Given the description of an element on the screen output the (x, y) to click on. 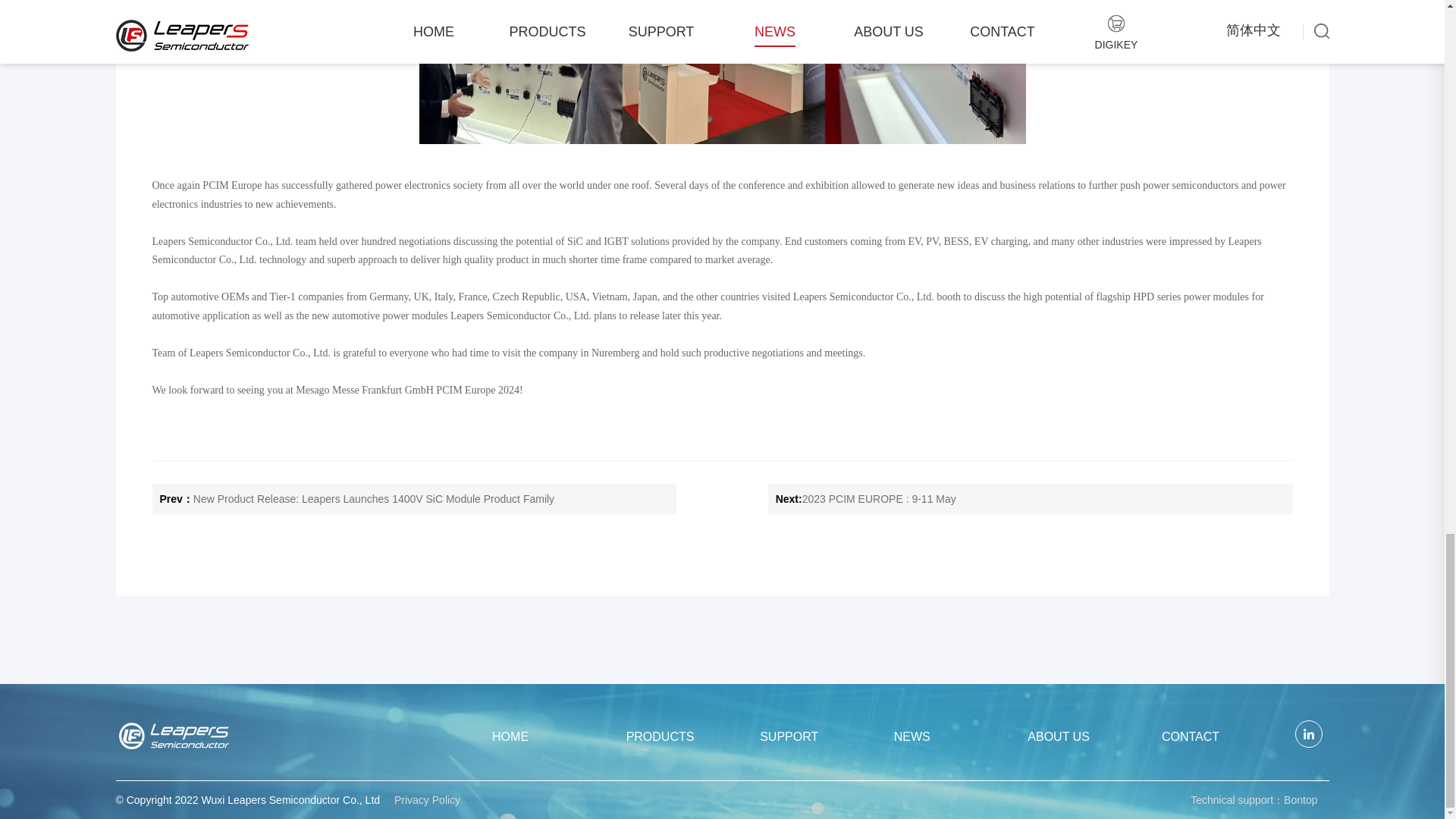
HOME (552, 736)
NEWS (953, 736)
PRODUCTS (687, 736)
ABOUT US (1087, 736)
SUPPORT (820, 736)
2023 PCIM EUROPE : 9-11 May (879, 499)
